Given the description of an element on the screen output the (x, y) to click on. 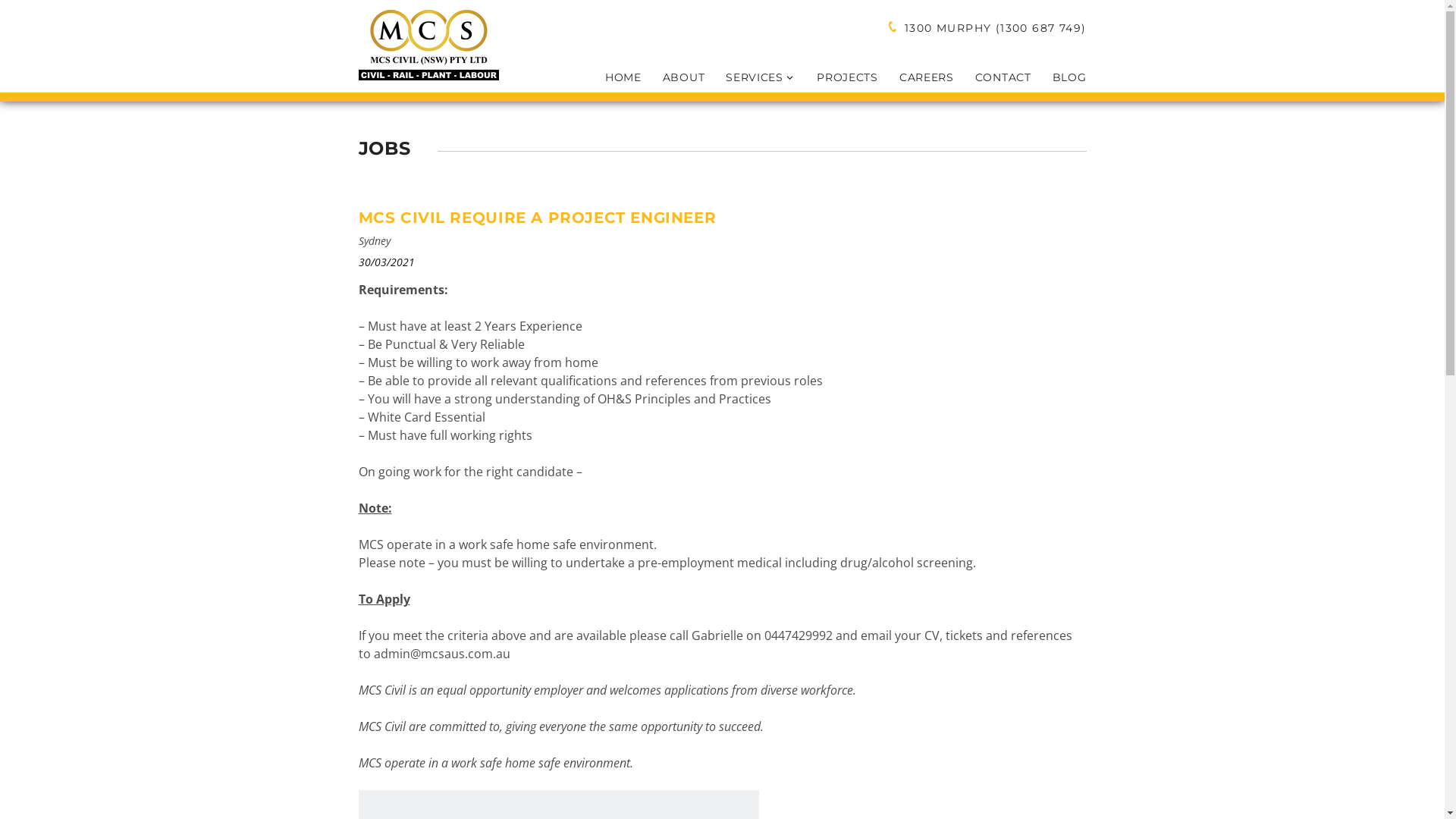
ABOUT Element type: text (673, 77)
CAREERS Element type: text (915, 77)
HOME Element type: text (612, 77)
1300 MURPHY (1300 687 749) Element type: text (992, 27)
BLOG Element type: text (1058, 77)
PROJECTS Element type: text (836, 77)
CONTACT Element type: text (992, 77)
SERVICES Element type: text (749, 77)
